Given the description of an element on the screen output the (x, y) to click on. 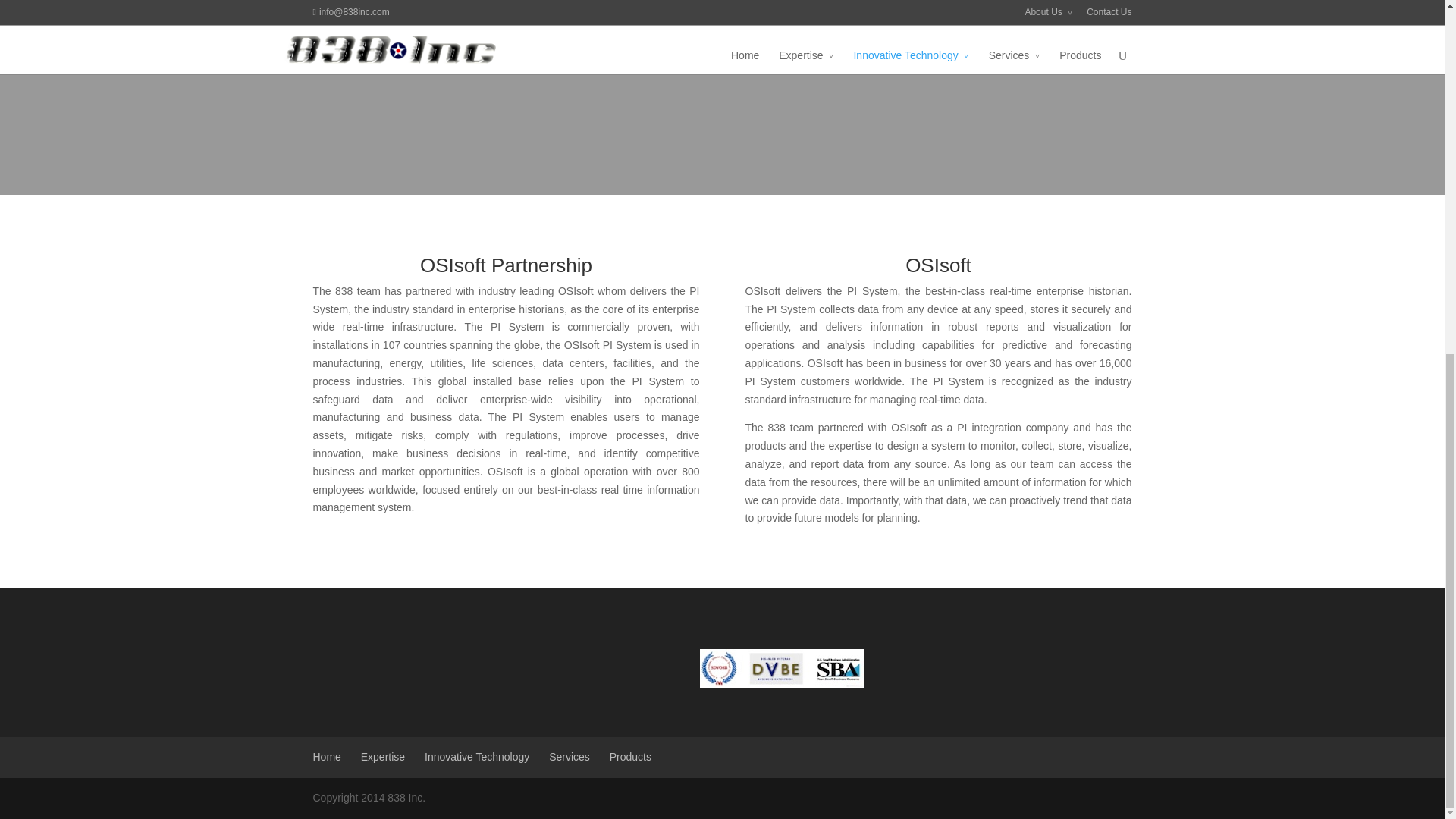
Products (630, 756)
Services (568, 756)
Expertise (382, 756)
Innovative Technology (477, 756)
Home (326, 756)
